Given the description of an element on the screen output the (x, y) to click on. 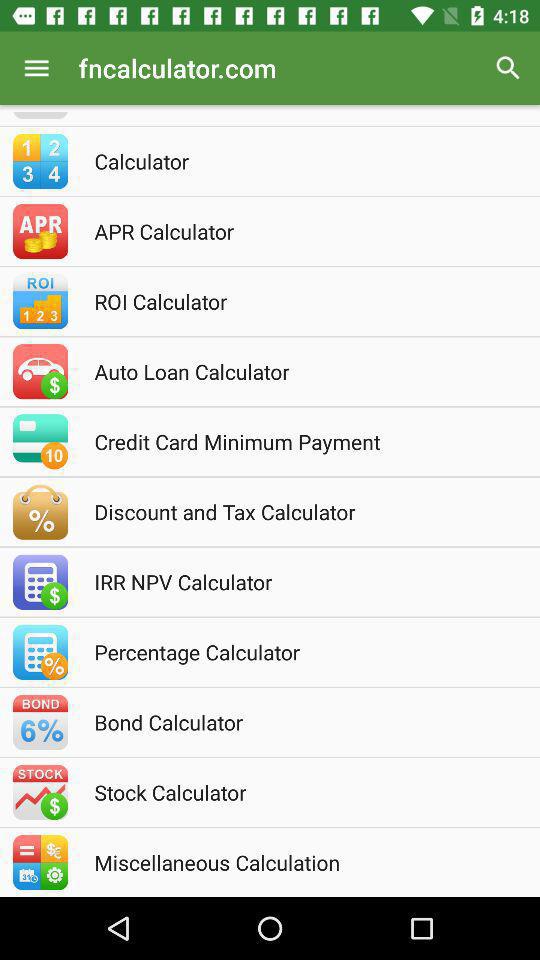
turn on the icon next to the fncalculator.com app (36, 68)
